Given the description of an element on the screen output the (x, y) to click on. 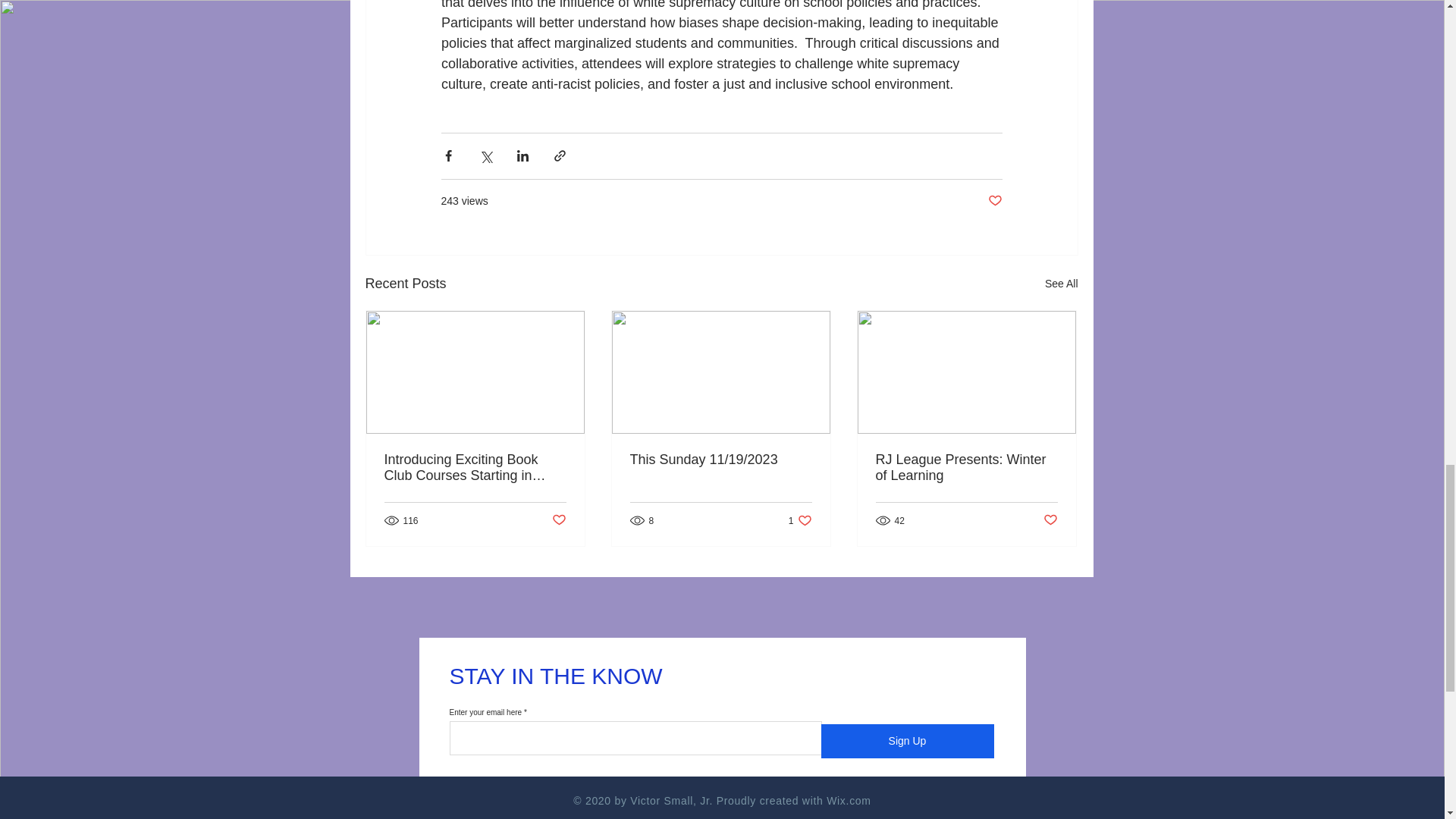
Post not marked as liked (1050, 520)
Post not marked as liked (558, 520)
Sign Up (906, 740)
Introducing Exciting Book Club Courses Starting in March! (800, 520)
See All (475, 468)
RJ League Presents: Winter of Learning (1061, 283)
Post not marked as liked (966, 468)
